Given the description of an element on the screen output the (x, y) to click on. 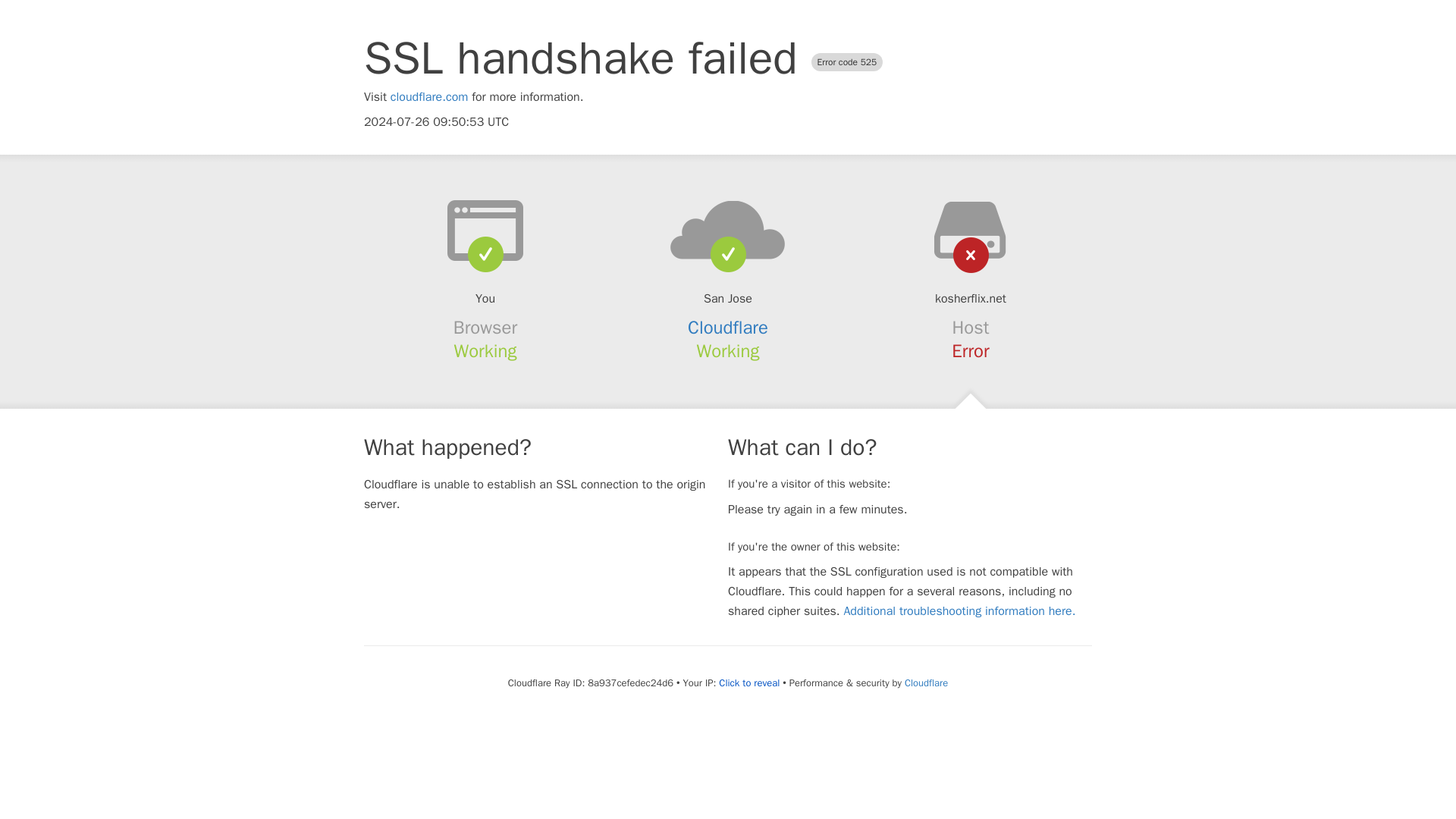
Additional troubleshooting information here. (959, 611)
Cloudflare (925, 682)
cloudflare.com (429, 96)
Cloudflare (727, 327)
Click to reveal (748, 683)
